Given the description of an element on the screen output the (x, y) to click on. 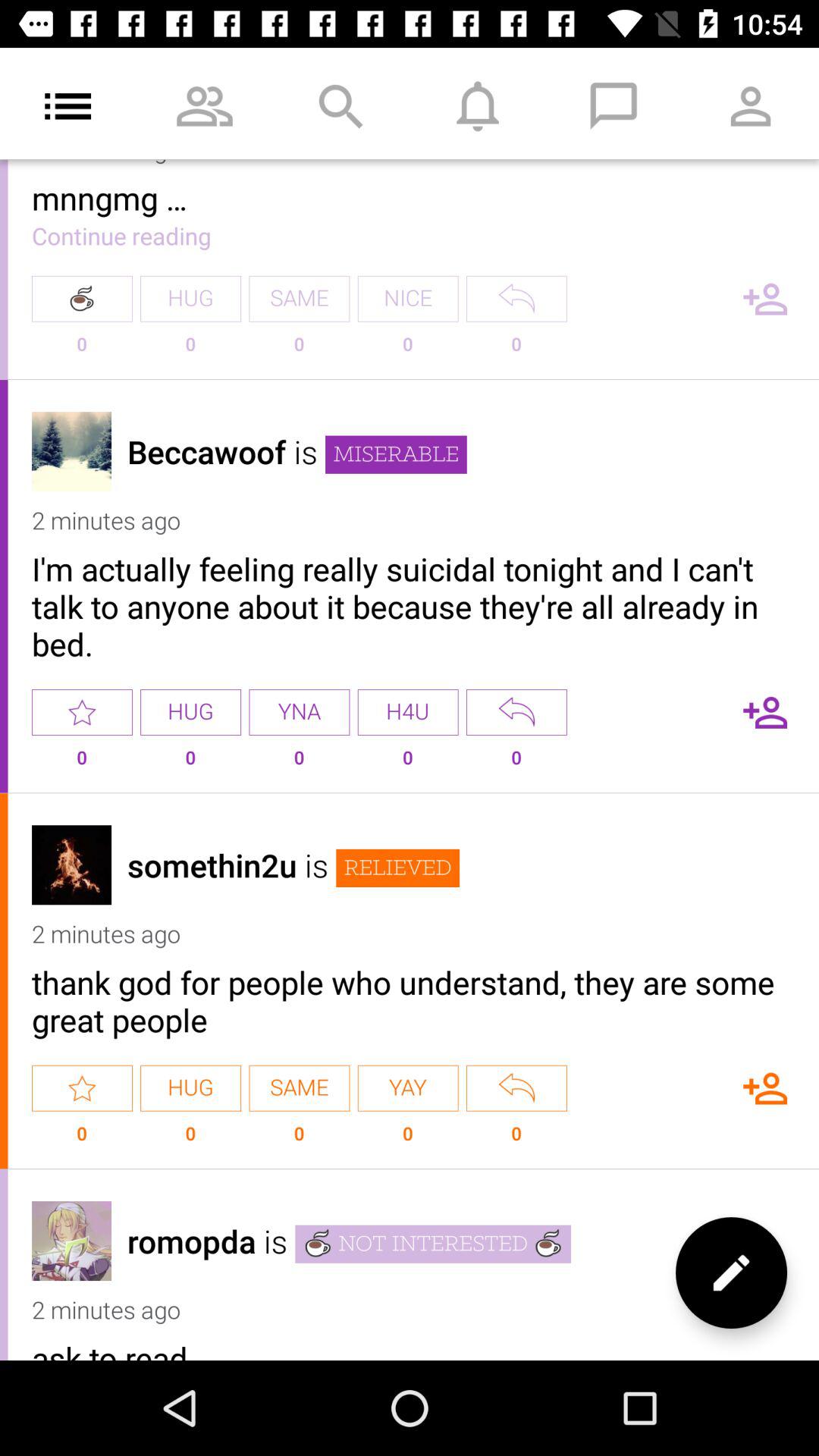
go back (516, 298)
